Given the description of an element on the screen output the (x, y) to click on. 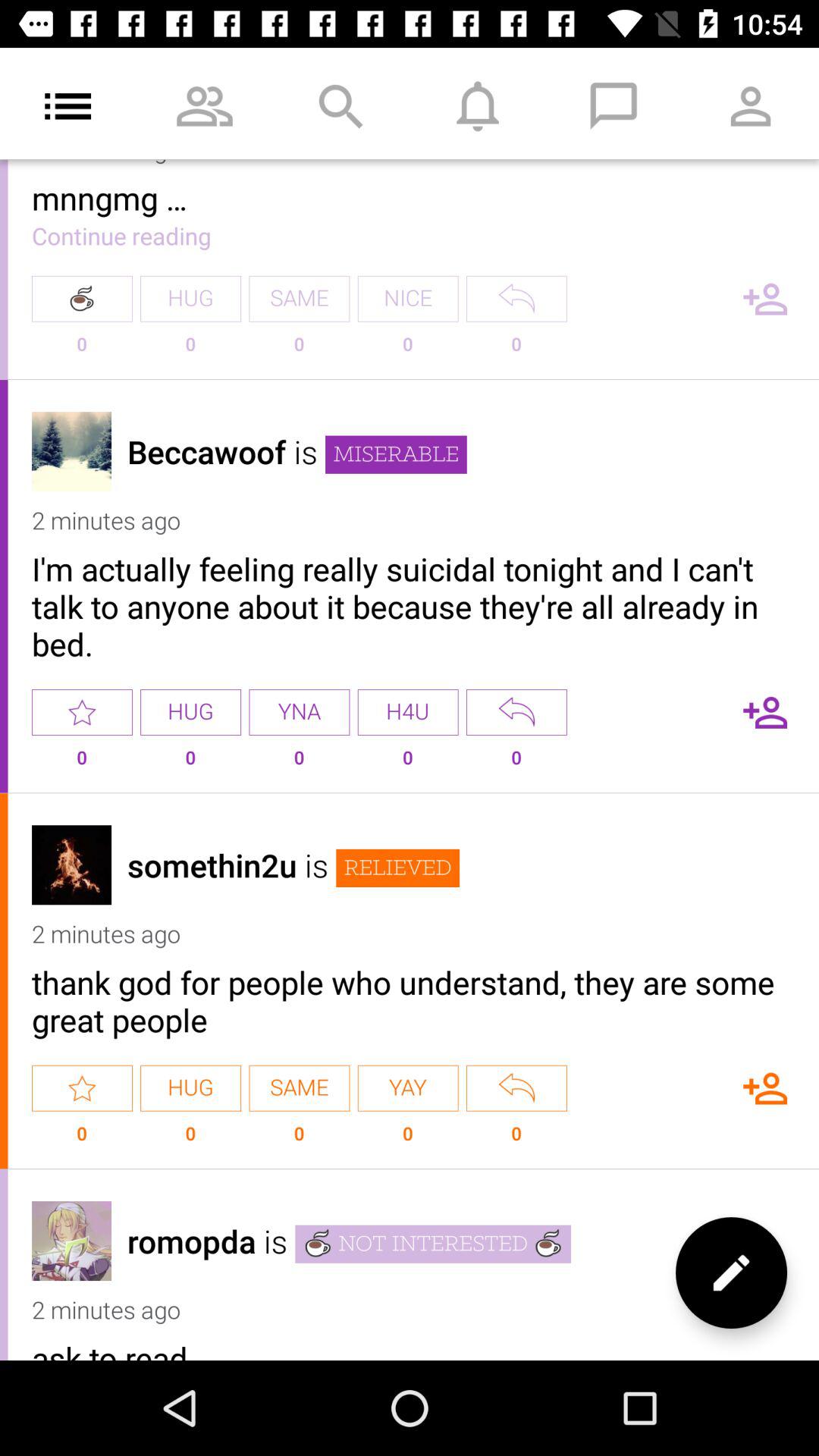
go back (516, 298)
